Given the description of an element on the screen output the (x, y) to click on. 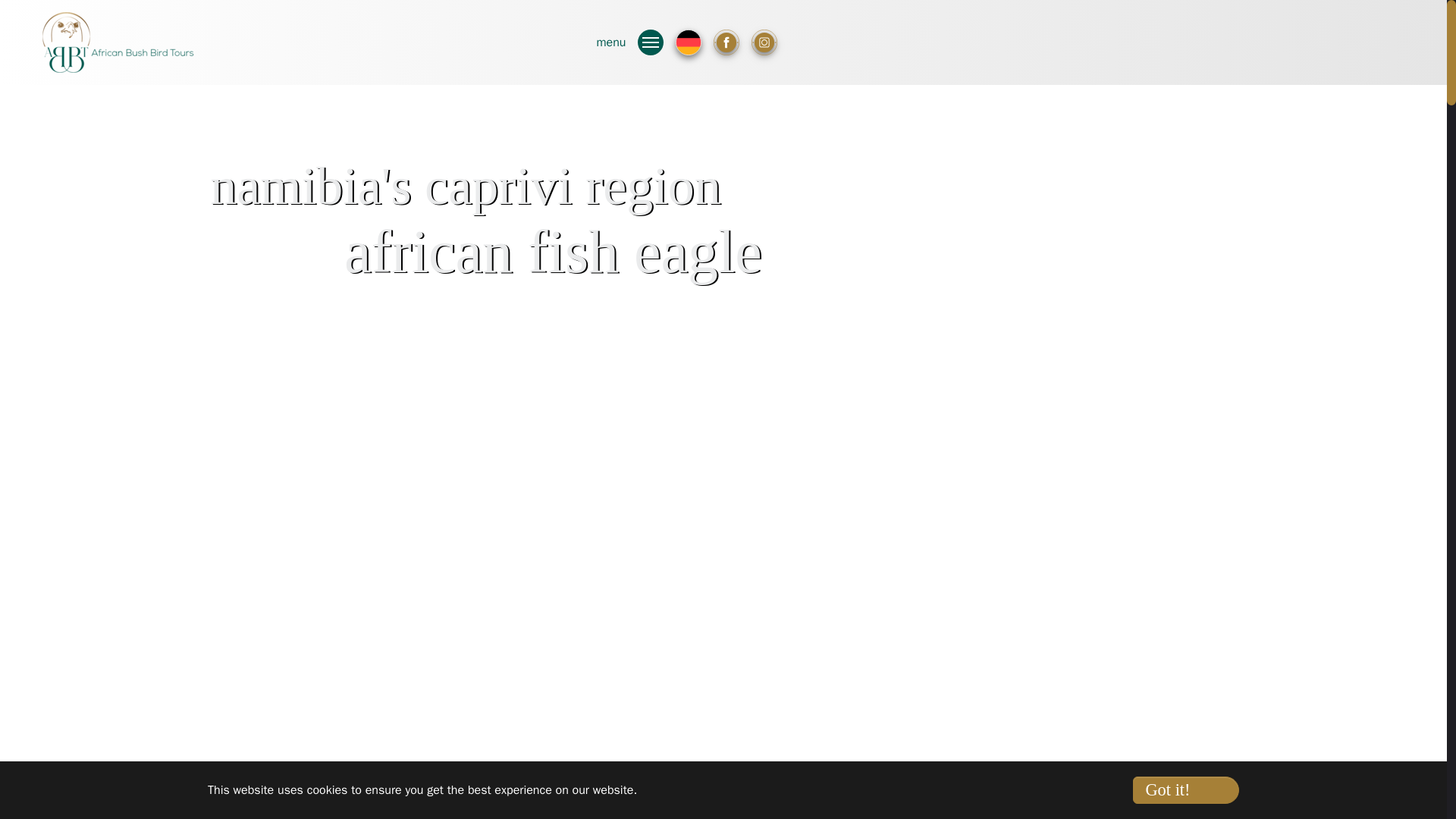
African Bushbird cc (117, 24)
Got it! (1185, 789)
